Given the description of an element on the screen output the (x, y) to click on. 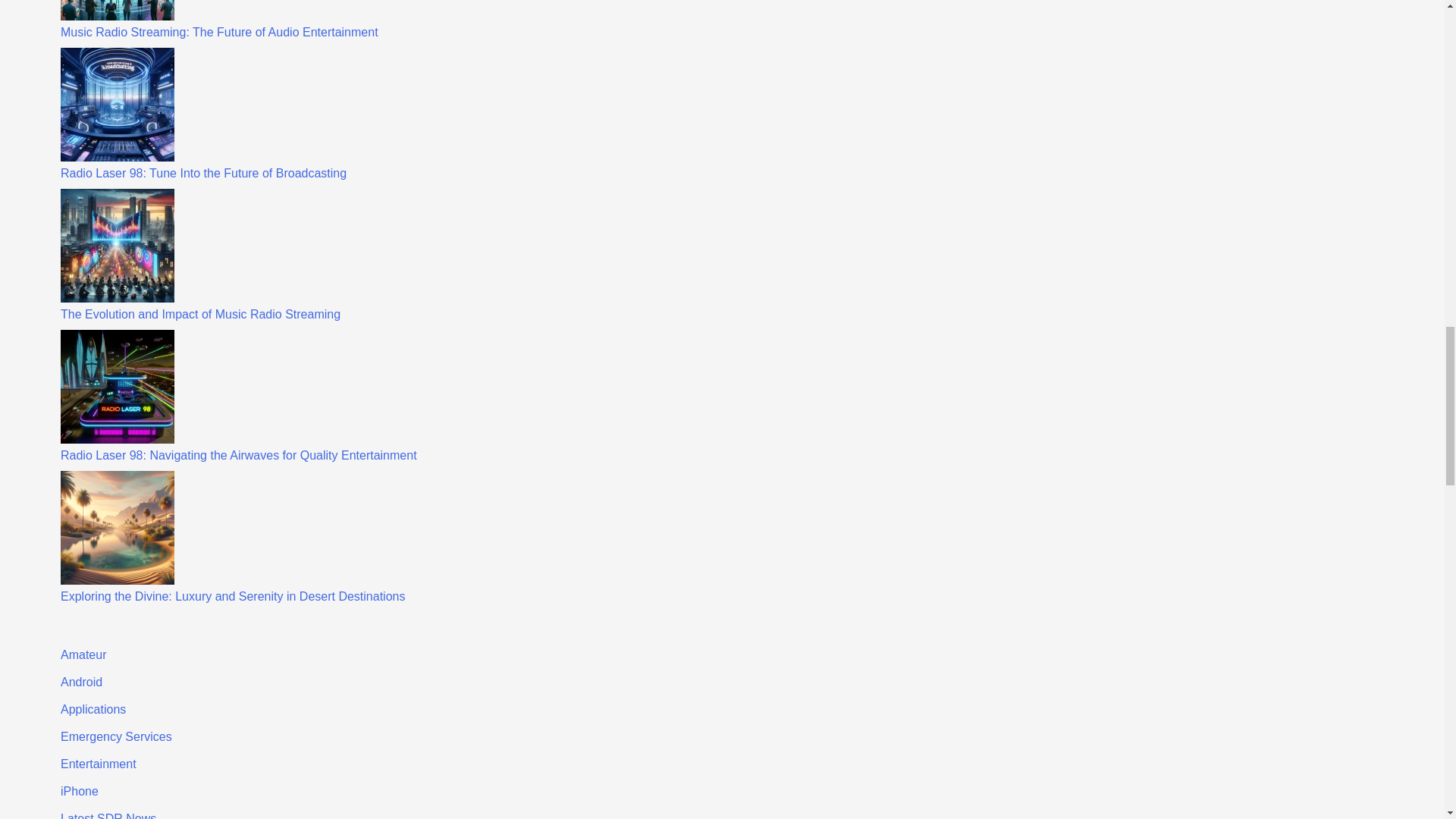
Emergency Services (116, 736)
iPhone (80, 790)
Latest SDR News (108, 815)
Android (81, 681)
Applications (93, 708)
Amateur (83, 654)
Music Radio Streaming: The Future of Audio Entertainment (219, 31)
Radio Laser 98: Tune Into the Future of Broadcasting (203, 173)
The Evolution and Impact of Music Radio Streaming (200, 314)
